Given the description of an element on the screen output the (x, y) to click on. 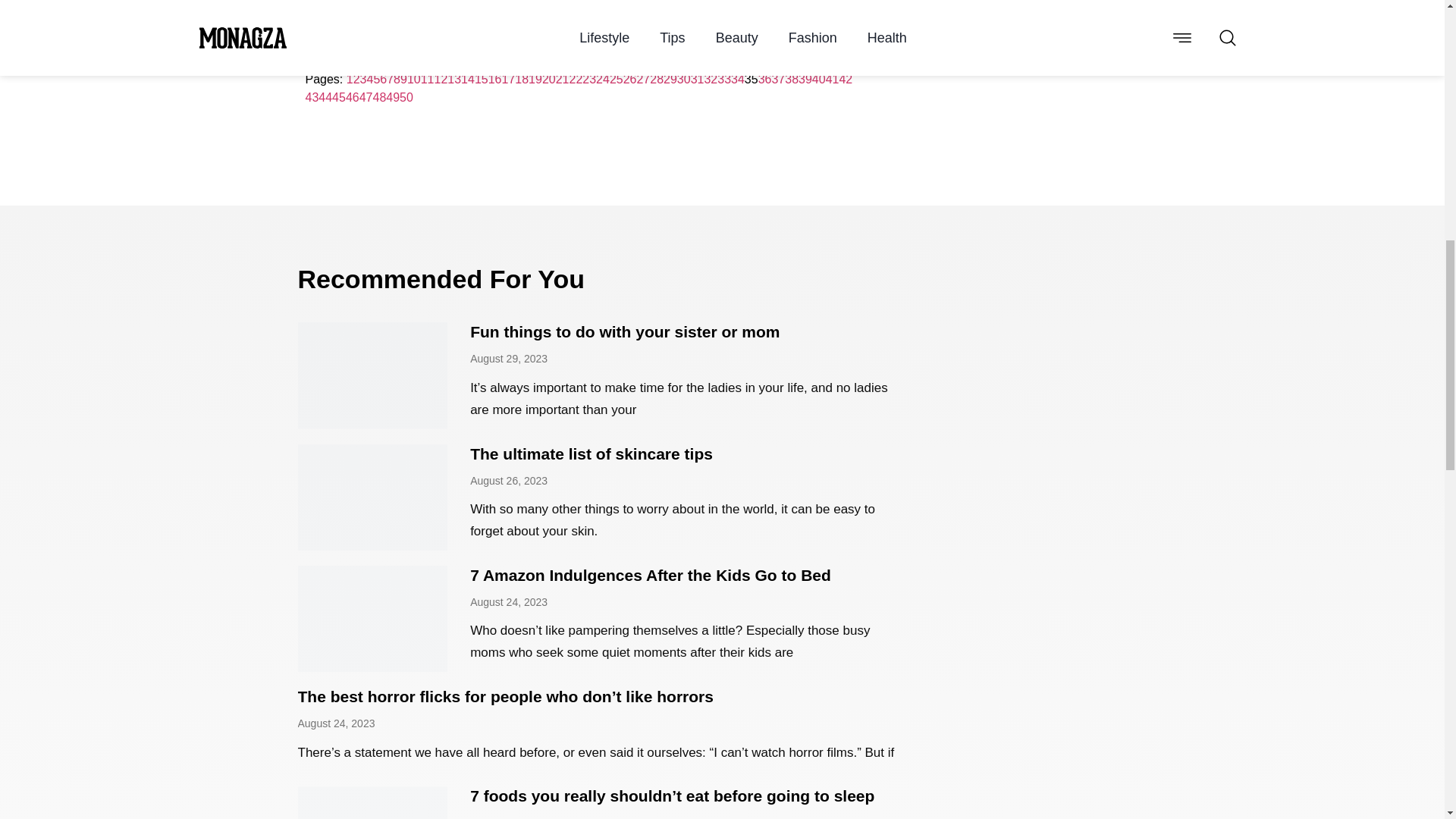
11 (426, 78)
13 (453, 78)
10 (413, 78)
12 (440, 78)
